Given the description of an element on the screen output the (x, y) to click on. 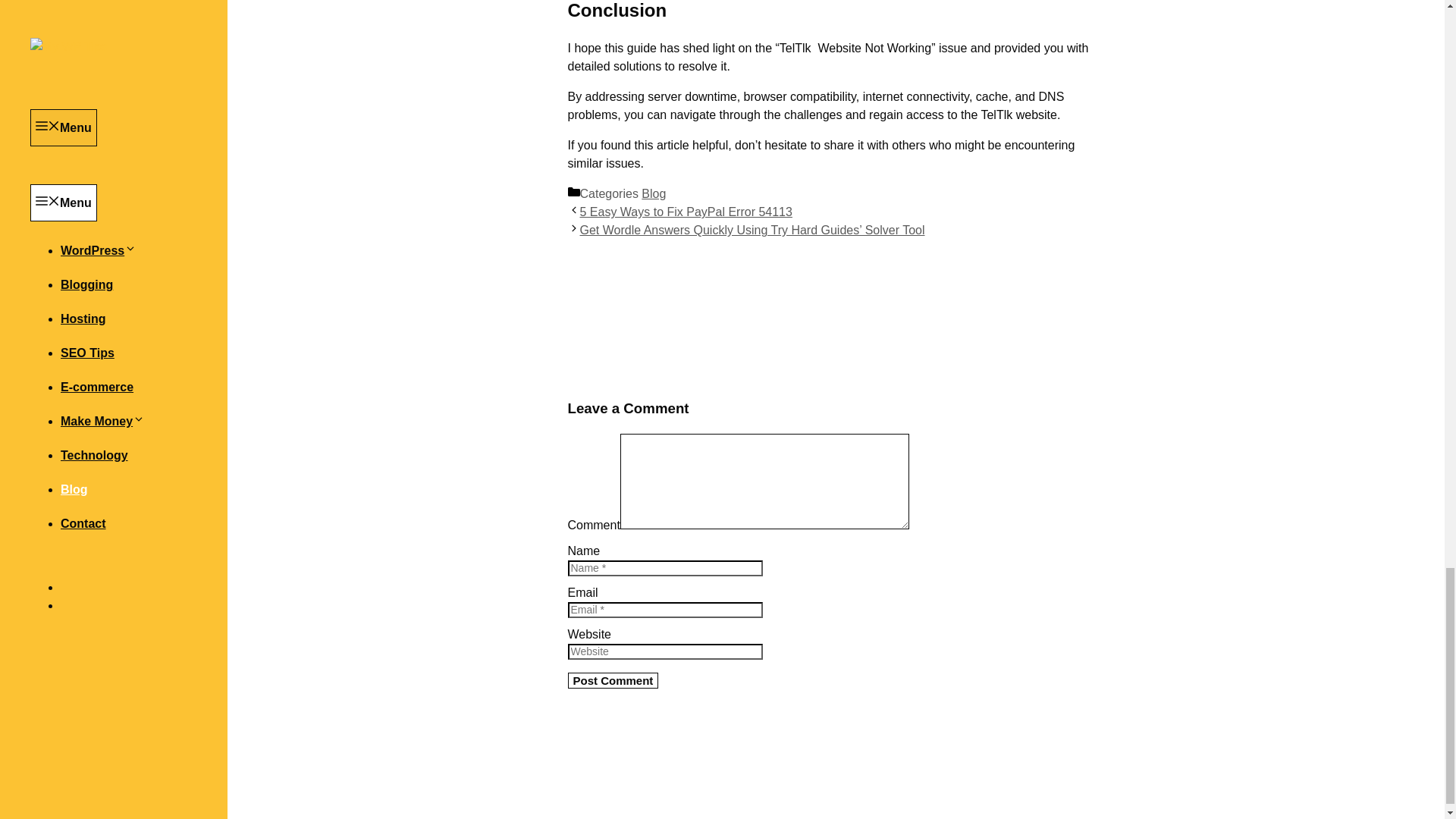
Post Comment (612, 680)
Blog (653, 193)
